Given the description of an element on the screen output the (x, y) to click on. 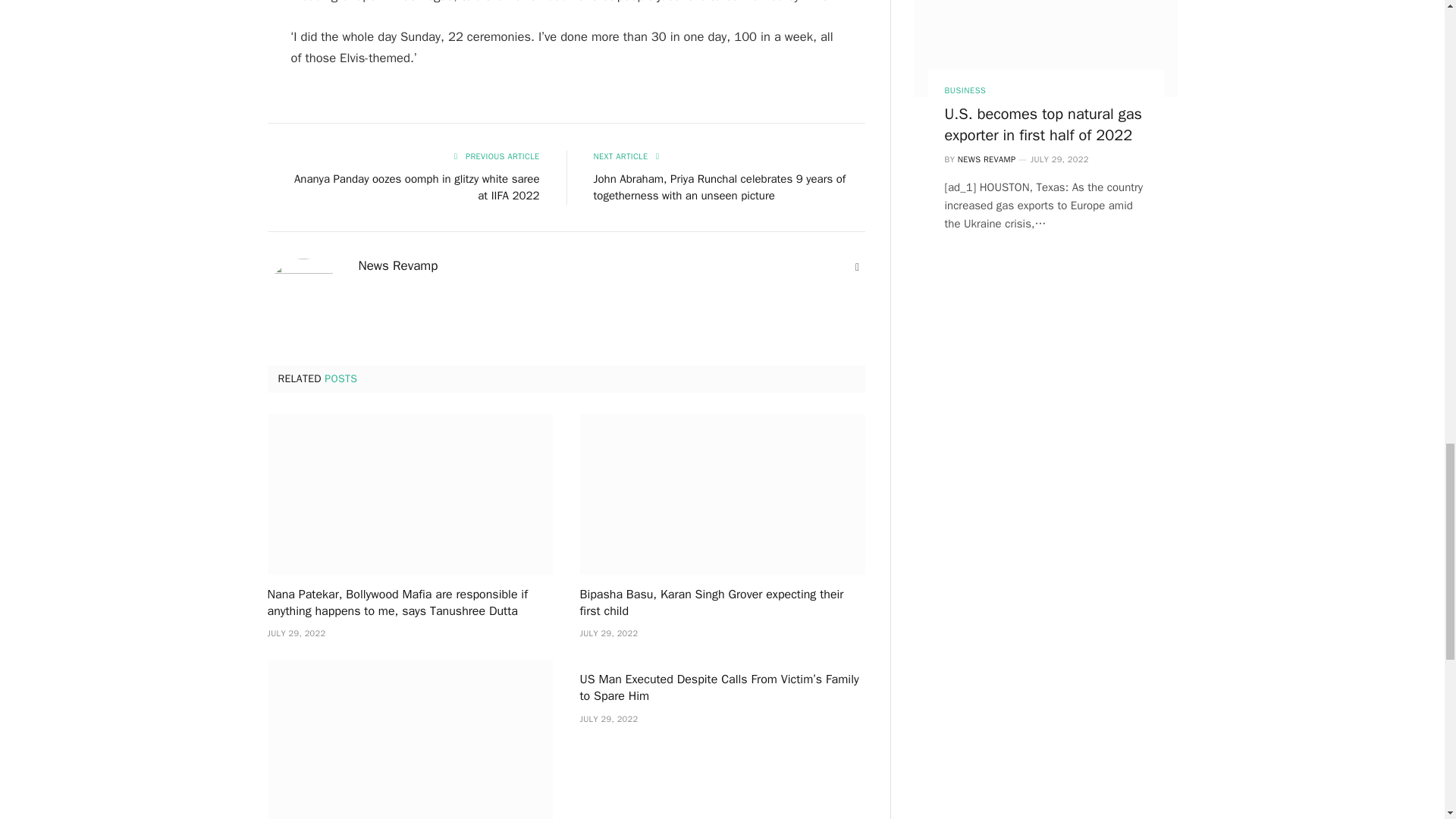
Ananya Panday oozes oomph in glitzy white saree at IIFA 2022 (417, 187)
Website (856, 267)
News Revamp (398, 265)
Bipasha Basu, Karan Singh Grover expecting their first child (721, 494)
Website (856, 267)
Bipasha Basu, Karan Singh Grover expecting their first child (721, 603)
Posts by News Revamp (398, 265)
